Given the description of an element on the screen output the (x, y) to click on. 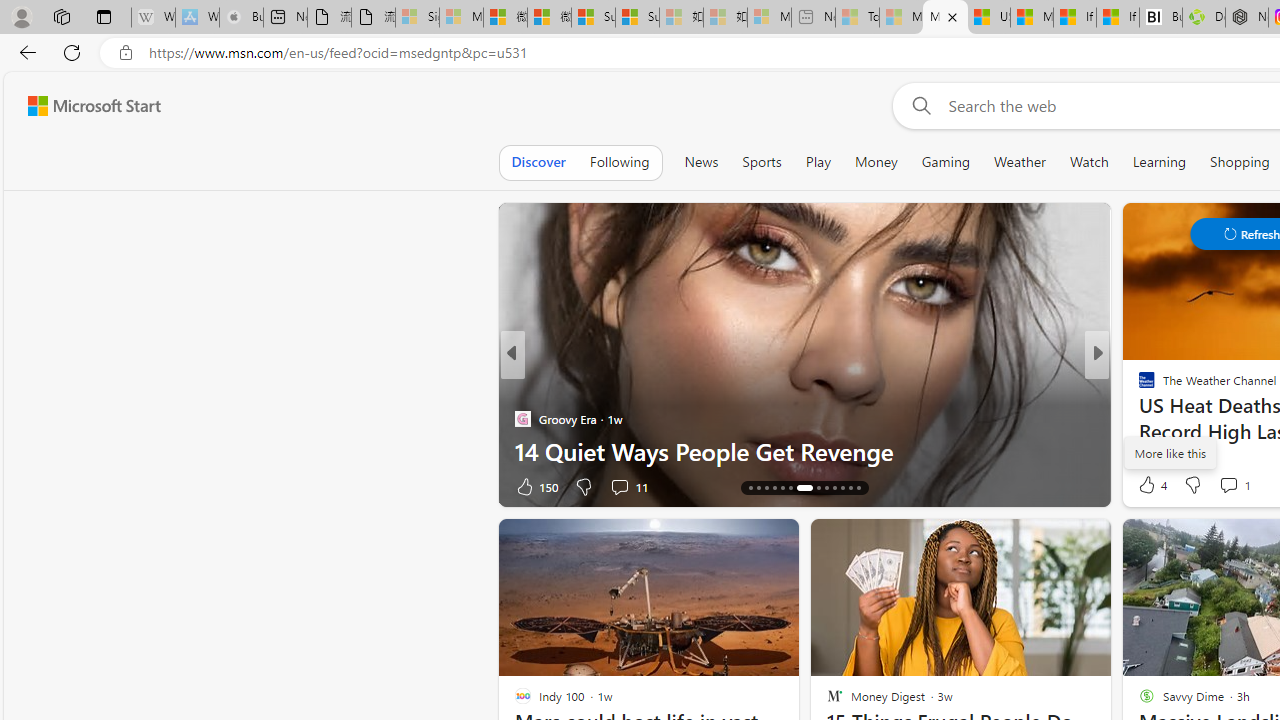
Back (24, 52)
Microsoft Services Agreement - Sleeping (461, 17)
Sports (761, 161)
Shopping (1240, 161)
13 Like (1149, 486)
View comments 1 Comment (1228, 485)
115 Like (1151, 486)
View comments 53 Comment (1244, 486)
Microsoft Start (1032, 17)
AutomationID: tab-25 (850, 487)
View comments 2 Comment (1229, 485)
Gaming (945, 161)
AutomationID: tab-19 (789, 487)
New tab - Sleeping (813, 17)
AutomationID: tab-14 (750, 487)
